Given the description of an element on the screen output the (x, y) to click on. 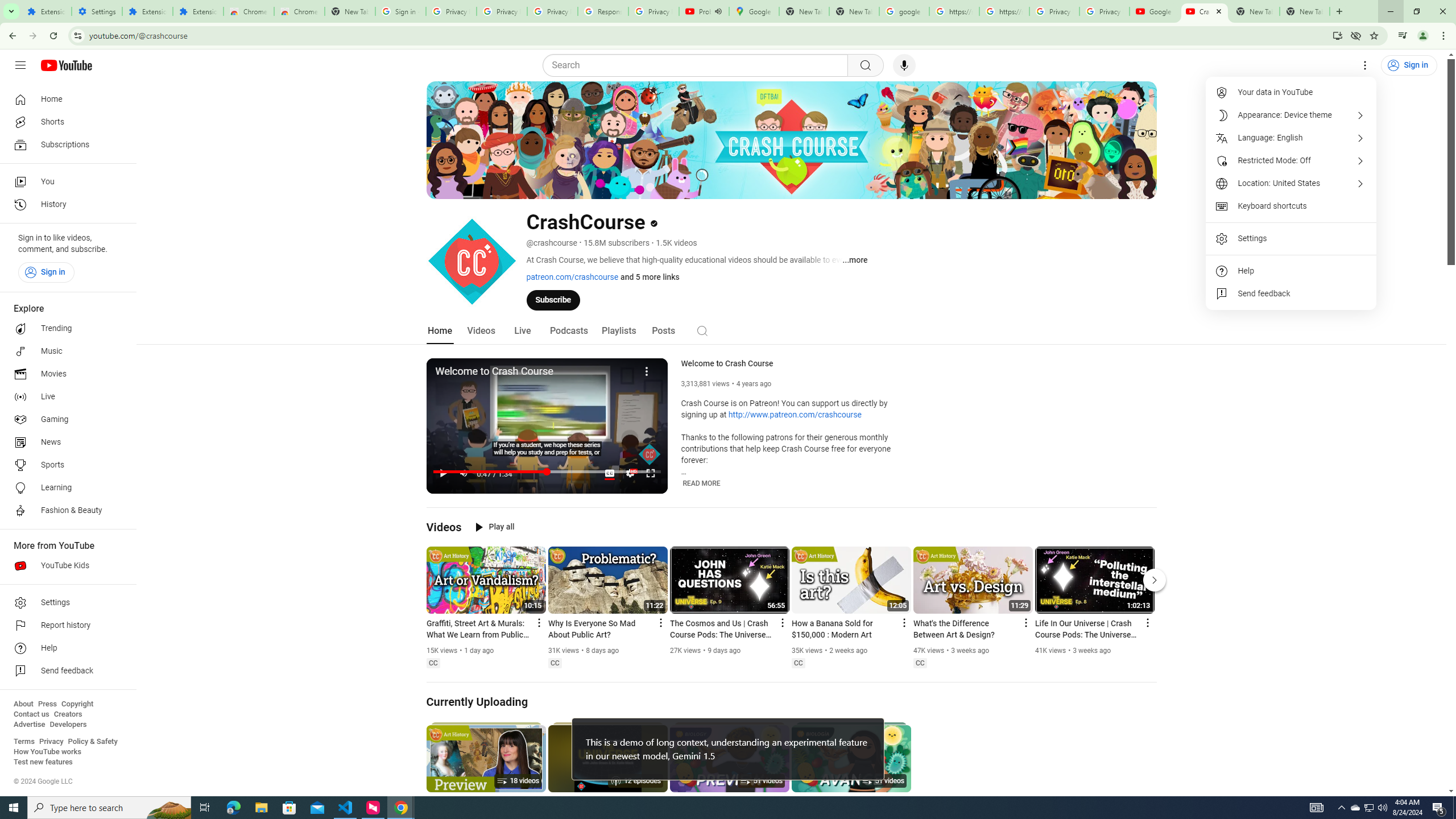
Closed captions (919, 662)
Language: English (1291, 137)
More (647, 370)
Extensions (46, 11)
Chrome Web Store (248, 11)
Subtitles/closed captions unavailable (609, 472)
Test new features (42, 761)
